Given the description of an element on the screen output the (x, y) to click on. 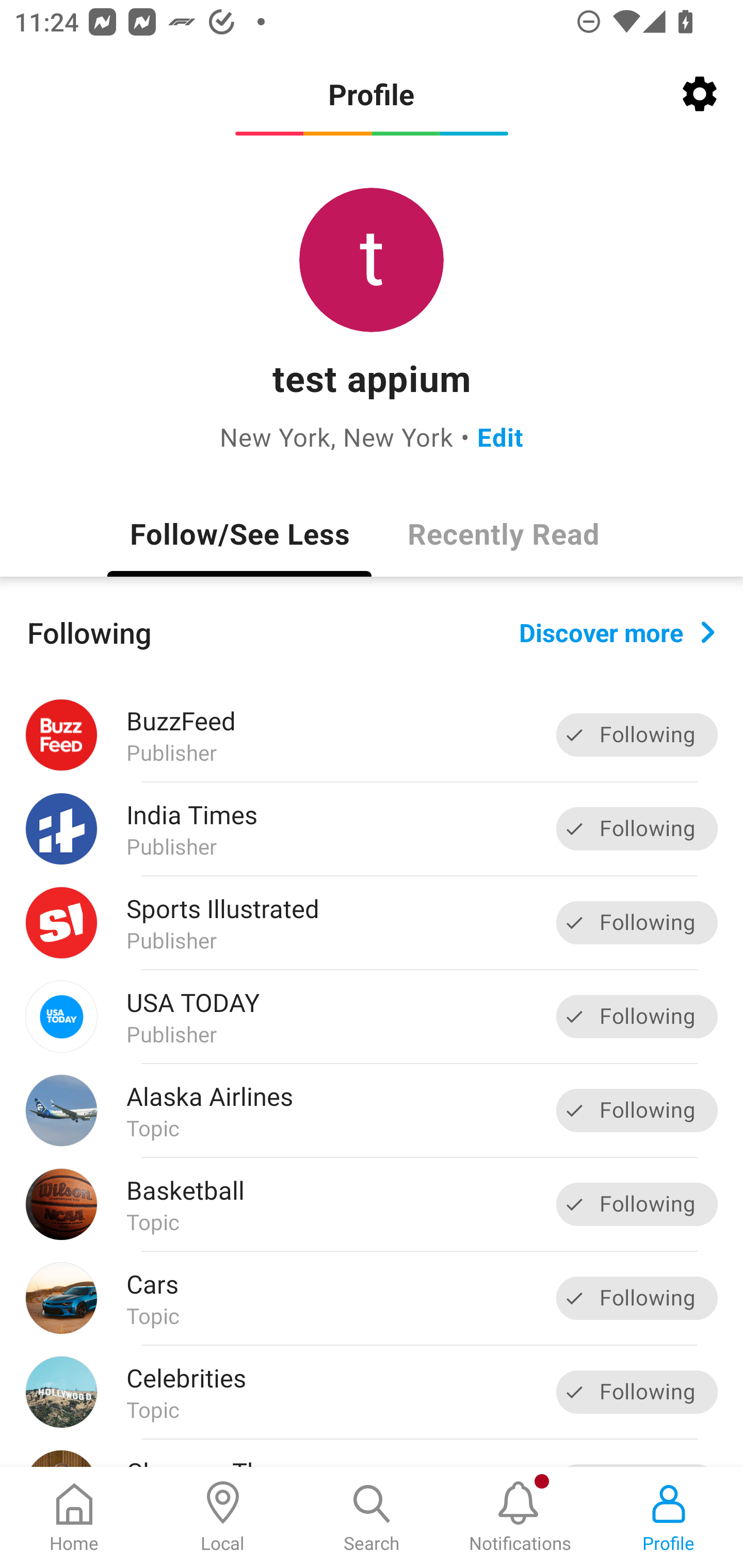
Settings (699, 93)
Edit (500, 436)
Recently Read (503, 533)
Discover more (617, 631)
BuzzFeed Publisher Following (371, 735)
Following (636, 735)
India Times Publisher Following (371, 829)
Following (636, 828)
Sports Illustrated Publisher Following (371, 922)
Following (636, 922)
USA TODAY Publisher Following (371, 1016)
Following (636, 1016)
Alaska Airlines Topic Following (371, 1110)
Following (636, 1110)
Basketball Topic Following (371, 1204)
Following (636, 1204)
Cars Topic Following (371, 1298)
Following (636, 1298)
Celebrities Topic Following (371, 1392)
Following (636, 1392)
Home (74, 1517)
Local (222, 1517)
Search (371, 1517)
Notifications, New notification Notifications (519, 1517)
